Given the description of an element on the screen output the (x, y) to click on. 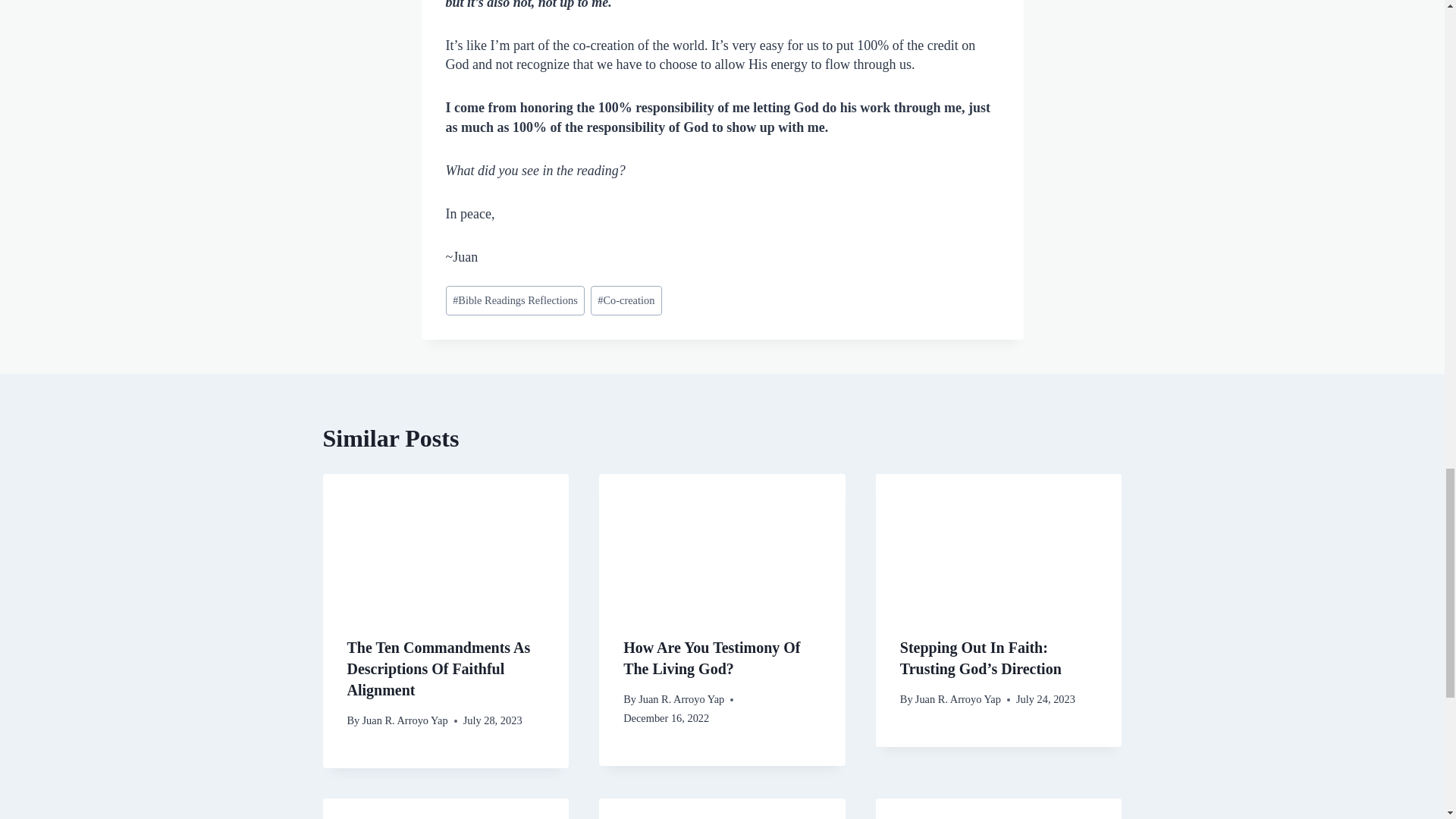
Bible Readings Reflections (515, 300)
Juan R. Arroyo Yap (958, 698)
Juan R. Arroyo Yap (403, 720)
Co-creation (626, 300)
Juan R. Arroyo Yap (681, 698)
How Are You Testimony Of The Living God? (711, 658)
The Ten Commandments As Descriptions Of Faithful Alignment (439, 668)
